Given the description of an element on the screen output the (x, y) to click on. 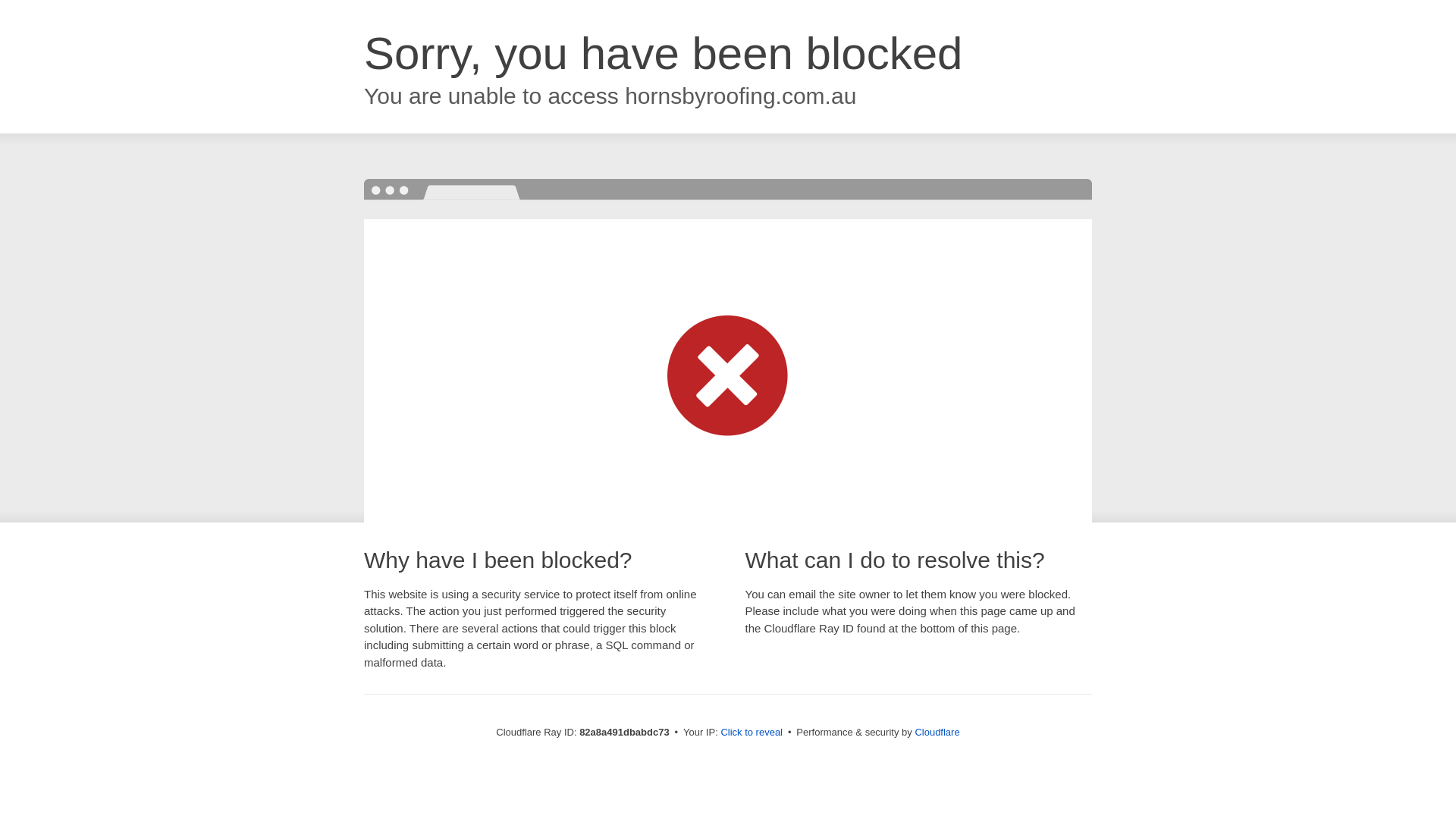
Click to reveal Element type: text (751, 732)
Cloudflare Element type: text (936, 731)
